Given the description of an element on the screen output the (x, y) to click on. 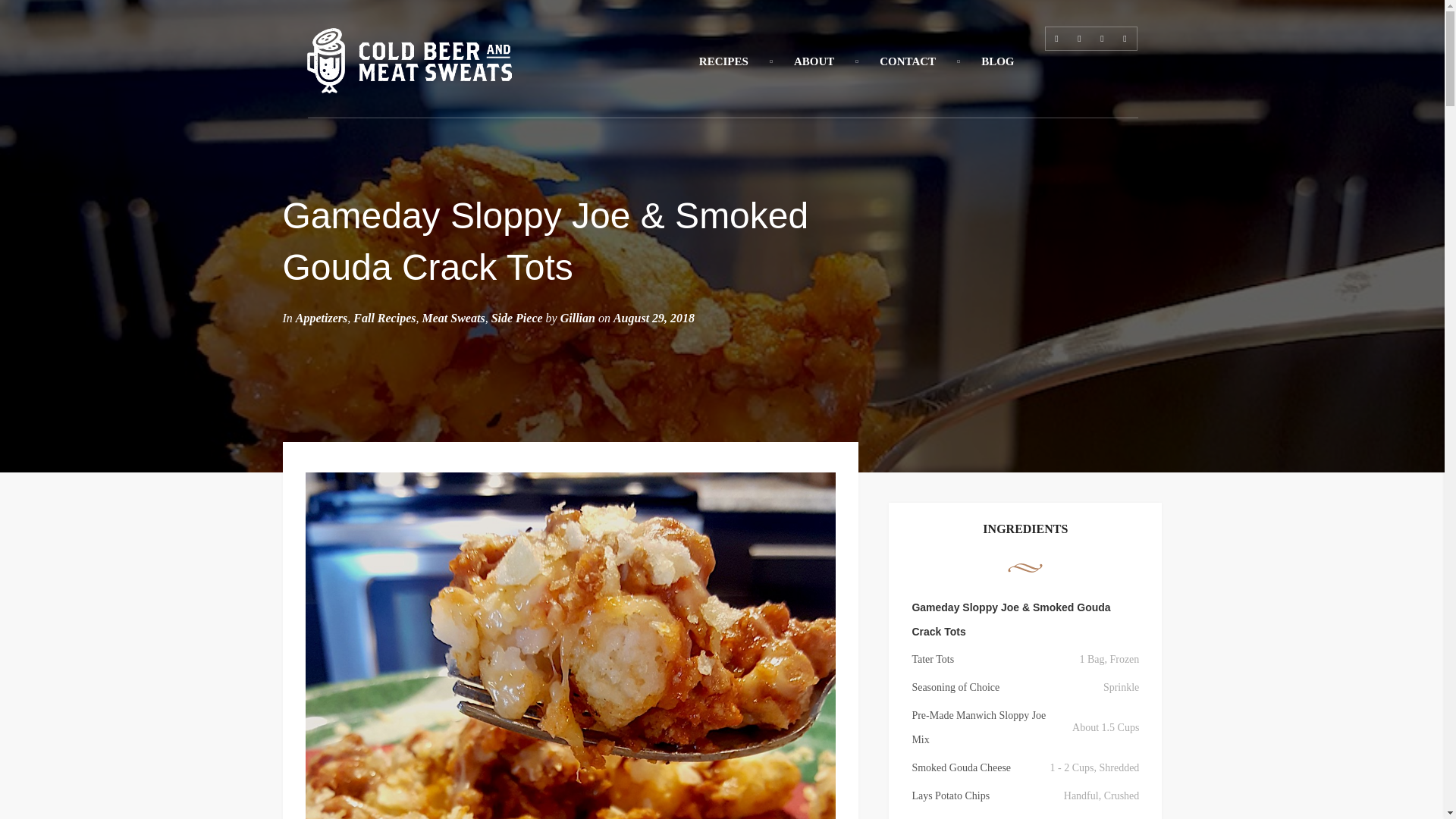
Meat Sweats (453, 318)
RECIPES (723, 61)
ABOUT (813, 61)
BLOG (997, 61)
Fall Recipes (383, 318)
August 29, 2018 (653, 318)
Appetizers (321, 318)
Gillian (577, 318)
CONTACT (907, 61)
Side Piece (517, 318)
